Given the description of an element on the screen output the (x, y) to click on. 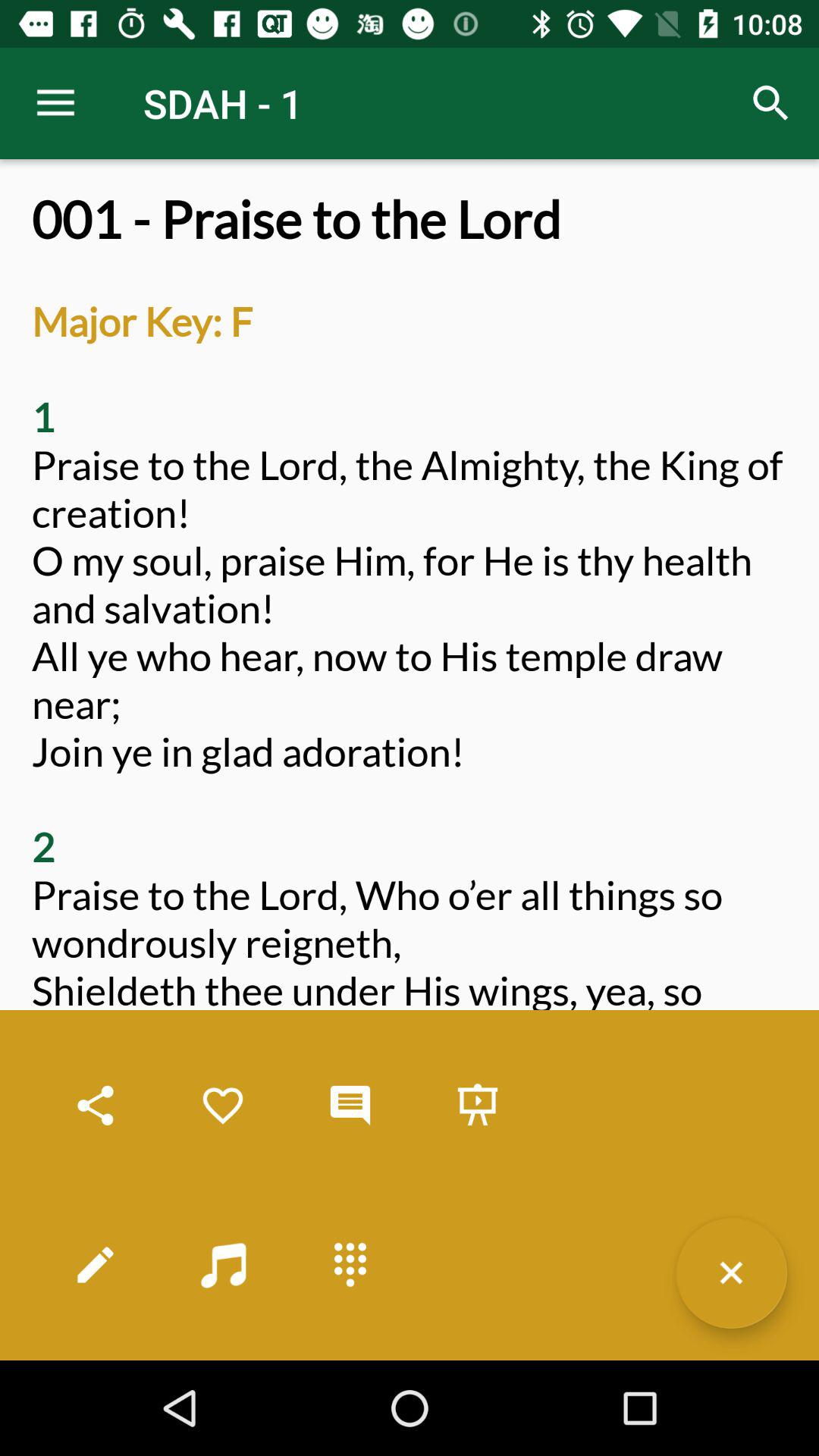
go to type number (350, 1264)
